Given the description of an element on the screen output the (x, y) to click on. 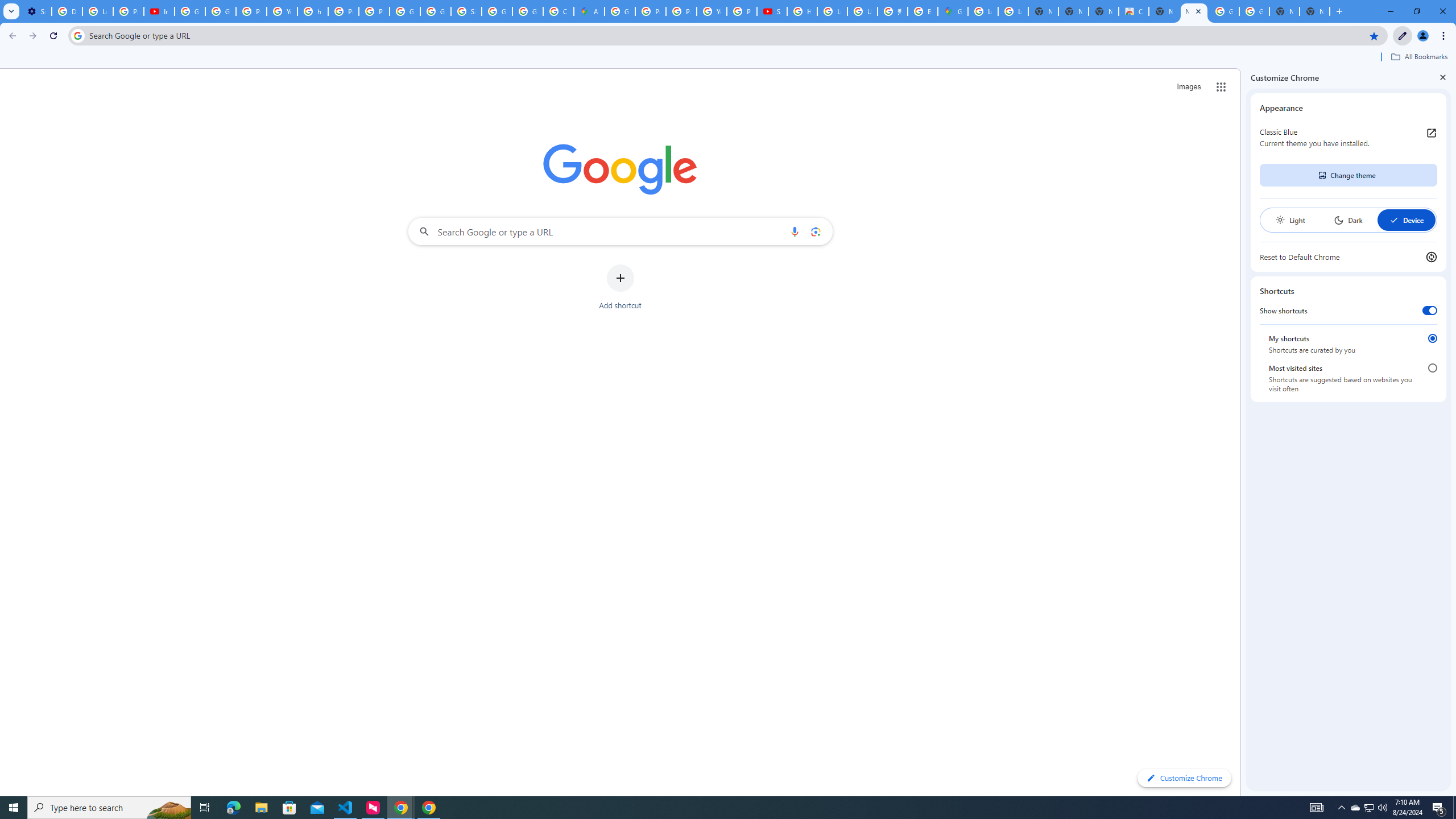
Show shortcuts (1429, 310)
Search Google or type a URL (619, 230)
Explore new street-level details - Google Maps Help (922, 11)
Sign in - Google Accounts (465, 11)
Subscriptions - YouTube (771, 11)
Privacy Help Center - Policies Help (681, 11)
Dark (1348, 219)
AutomationID: baseSvg (1394, 219)
New Tab (1314, 11)
